Given the description of an element on the screen output the (x, y) to click on. 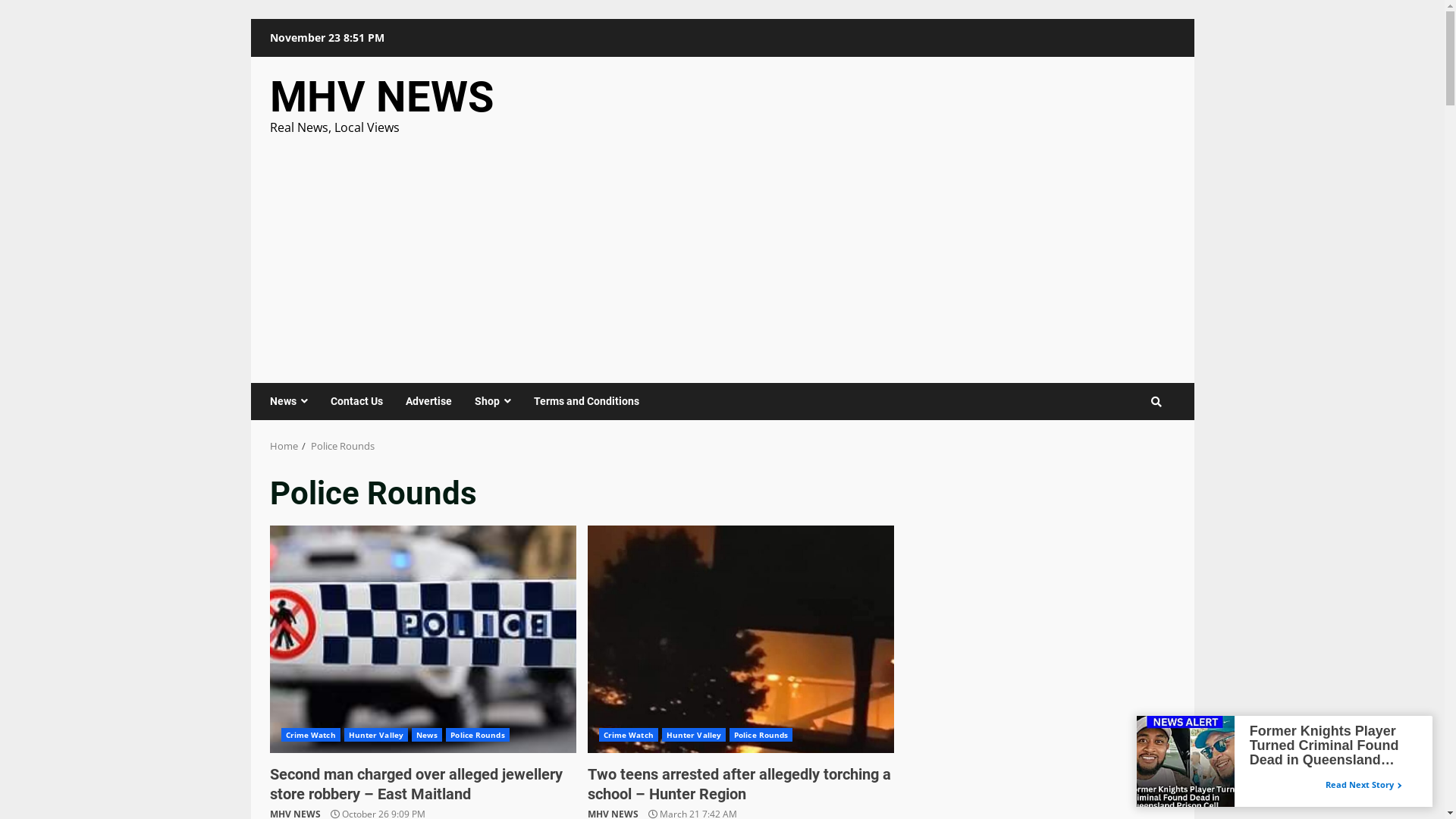
News Element type: text (294, 401)
Hunter Valley Element type: text (375, 734)
Crime Watch Element type: text (309, 734)
Advertisement Element type: hover (722, 250)
Shop Element type: text (491, 401)
Search Element type: hover (1156, 400)
Crime Watch Element type: text (628, 734)
Skip to content Element type: text (250, 18)
Police Rounds Element type: text (476, 734)
Contact Us Element type: text (355, 401)
MHV NEWS Element type: text (381, 97)
Search Element type: text (1128, 447)
Police Rounds Element type: text (760, 734)
Home Element type: text (283, 445)
News Element type: text (426, 734)
Advertise Element type: text (428, 401)
Terms and Conditions Element type: text (579, 401)
Hunter Valley Element type: text (693, 734)
Police Rounds Element type: text (342, 445)
